Given the description of an element on the screen output the (x, y) to click on. 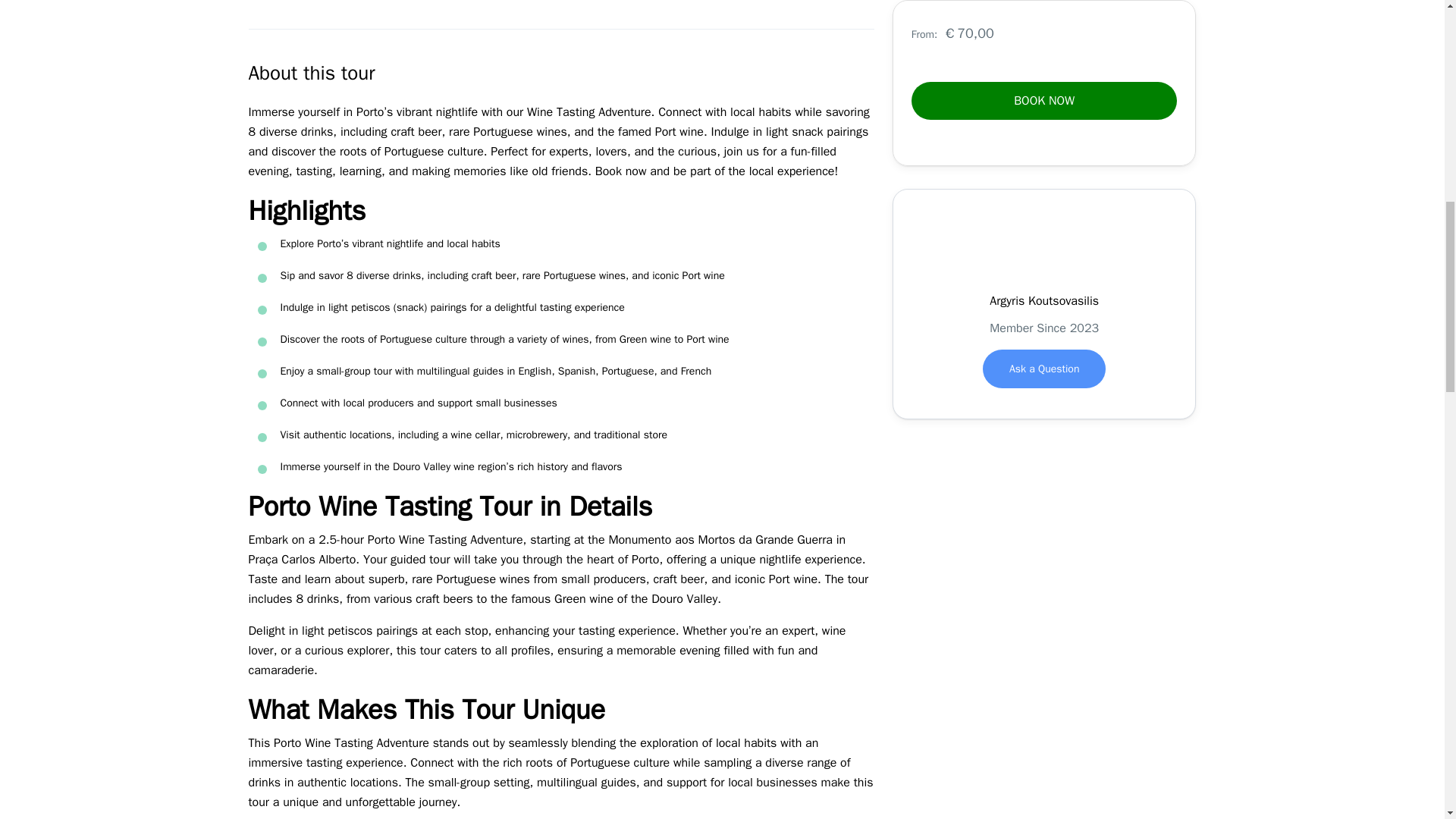
BOOK NOW (1044, 55)
Argyris Koutsovasilis (1044, 255)
Ask a Question (1044, 323)
